Given the description of an element on the screen output the (x, y) to click on. 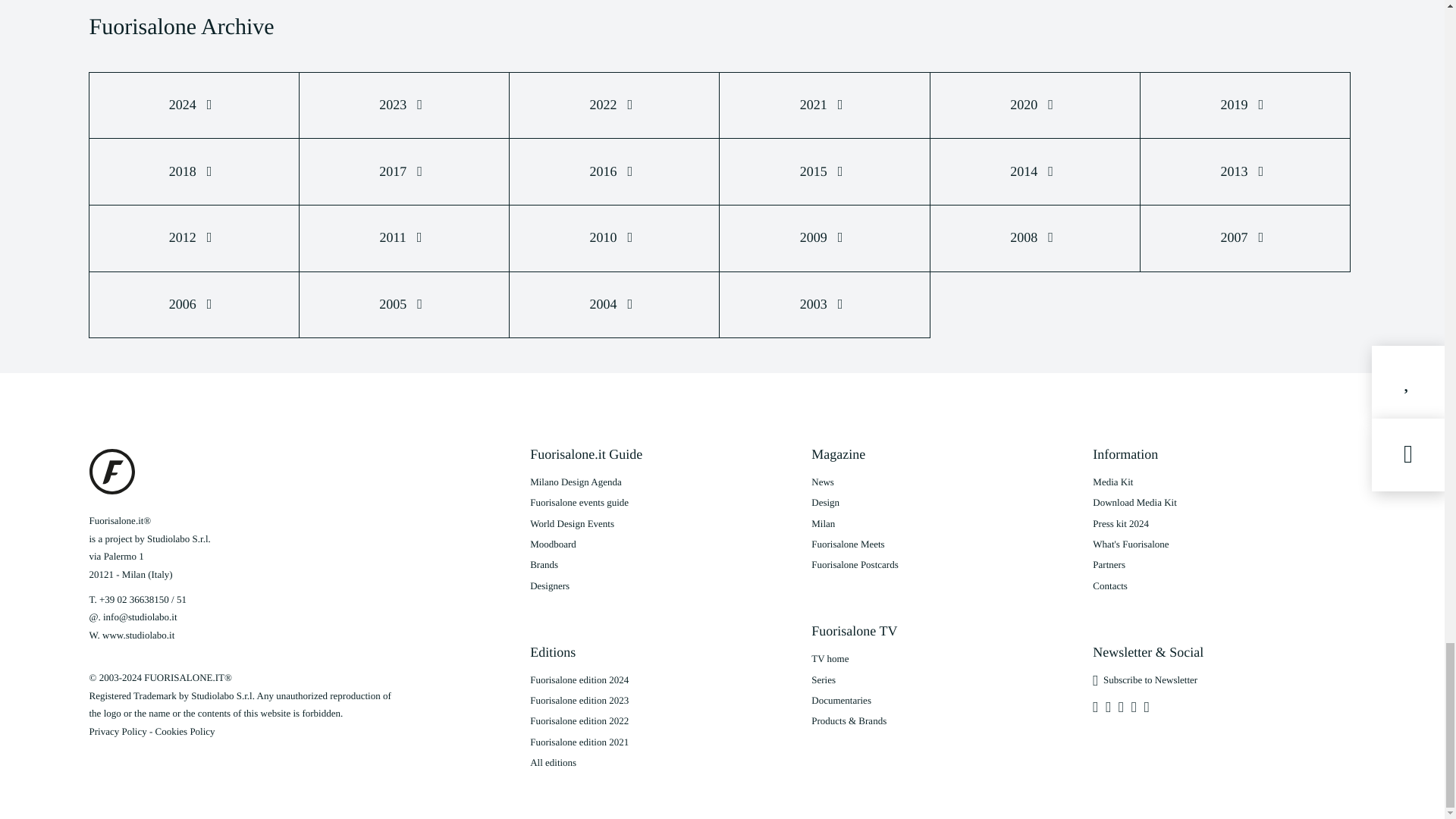
Website Studiolabo (137, 634)
Email Studiolabo (140, 616)
